Given the description of an element on the screen output the (x, y) to click on. 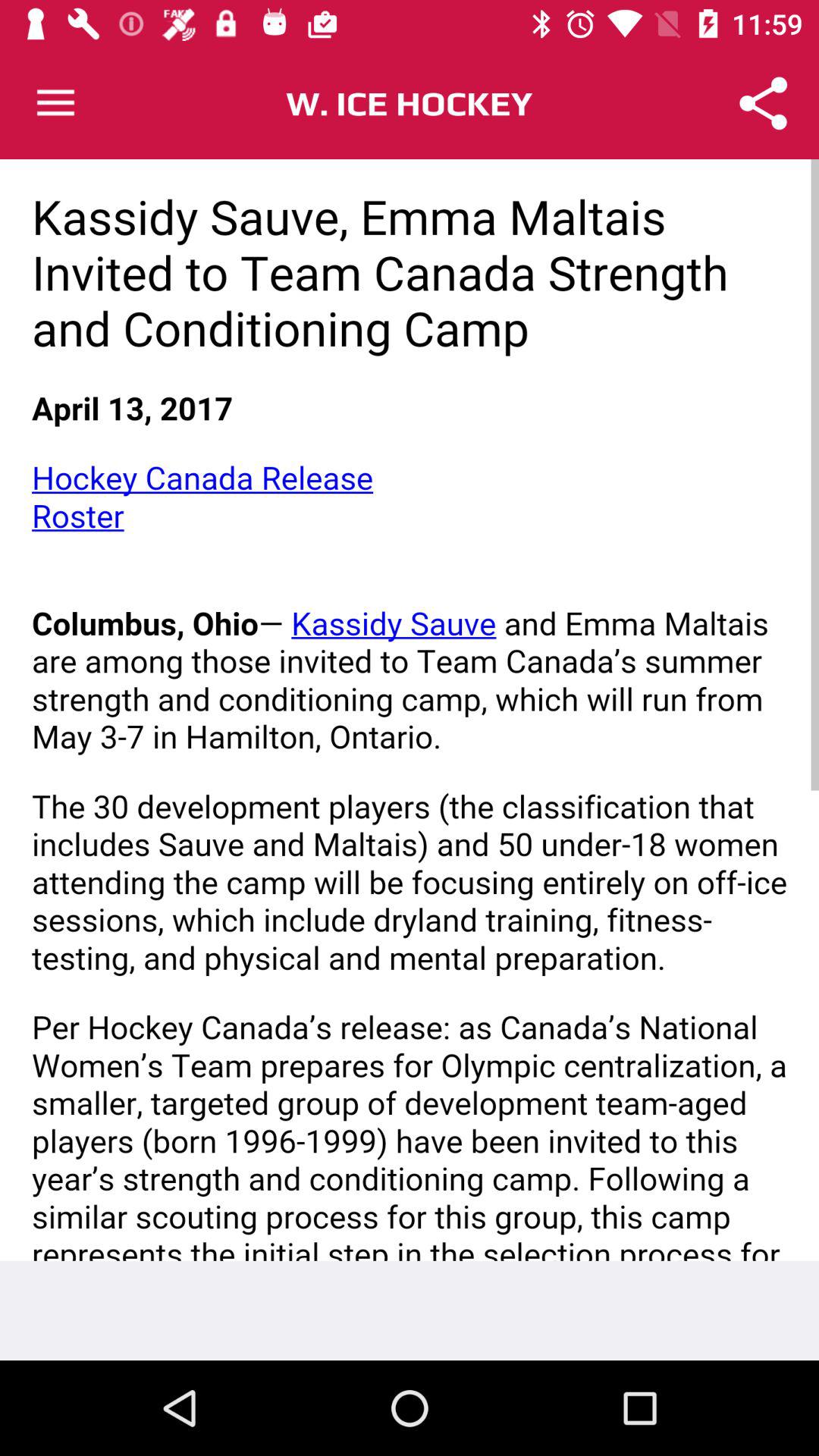
go to menu button (55, 103)
